Given the description of an element on the screen output the (x, y) to click on. 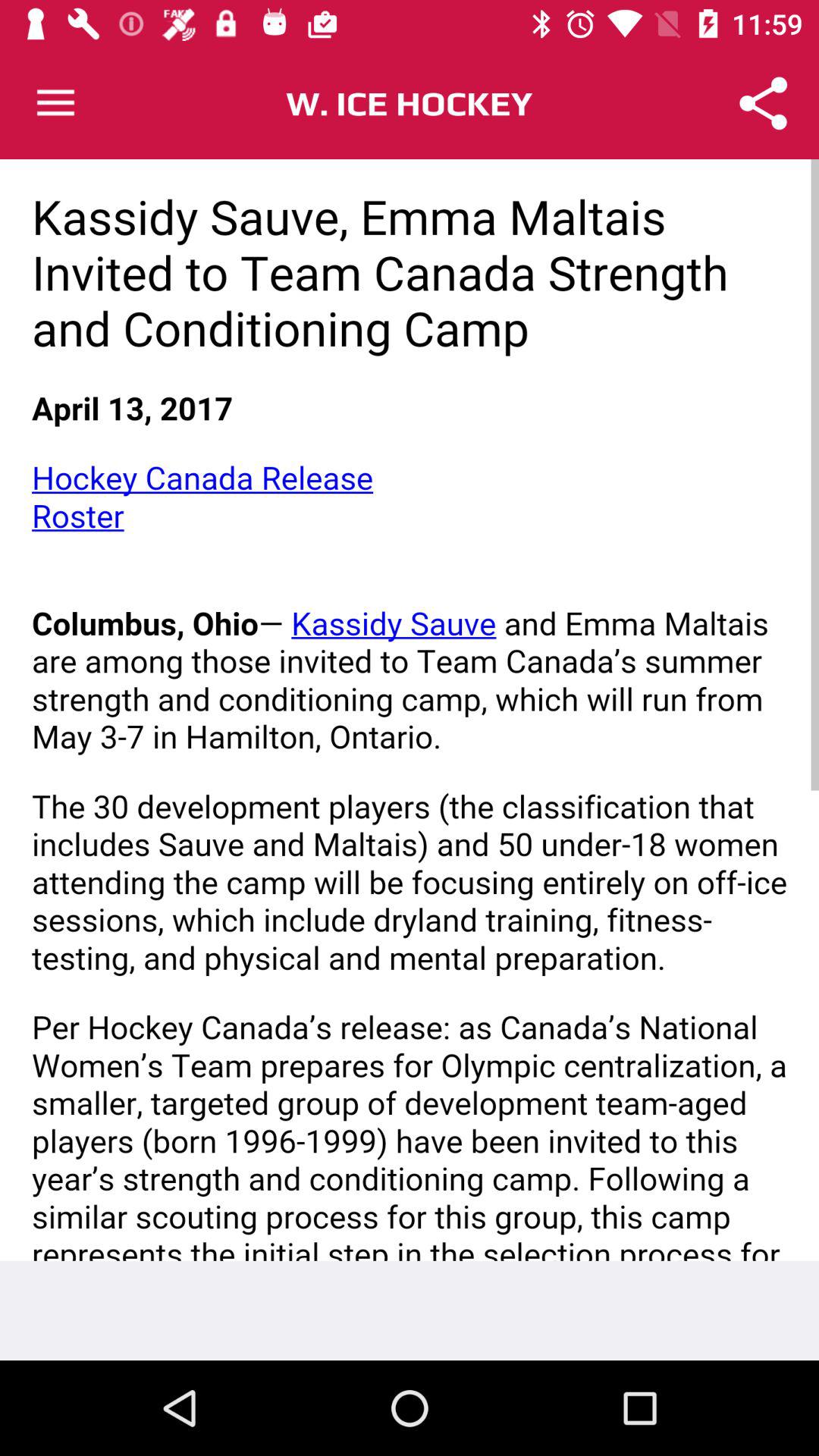
go to menu button (55, 103)
